Given the description of an element on the screen output the (x, y) to click on. 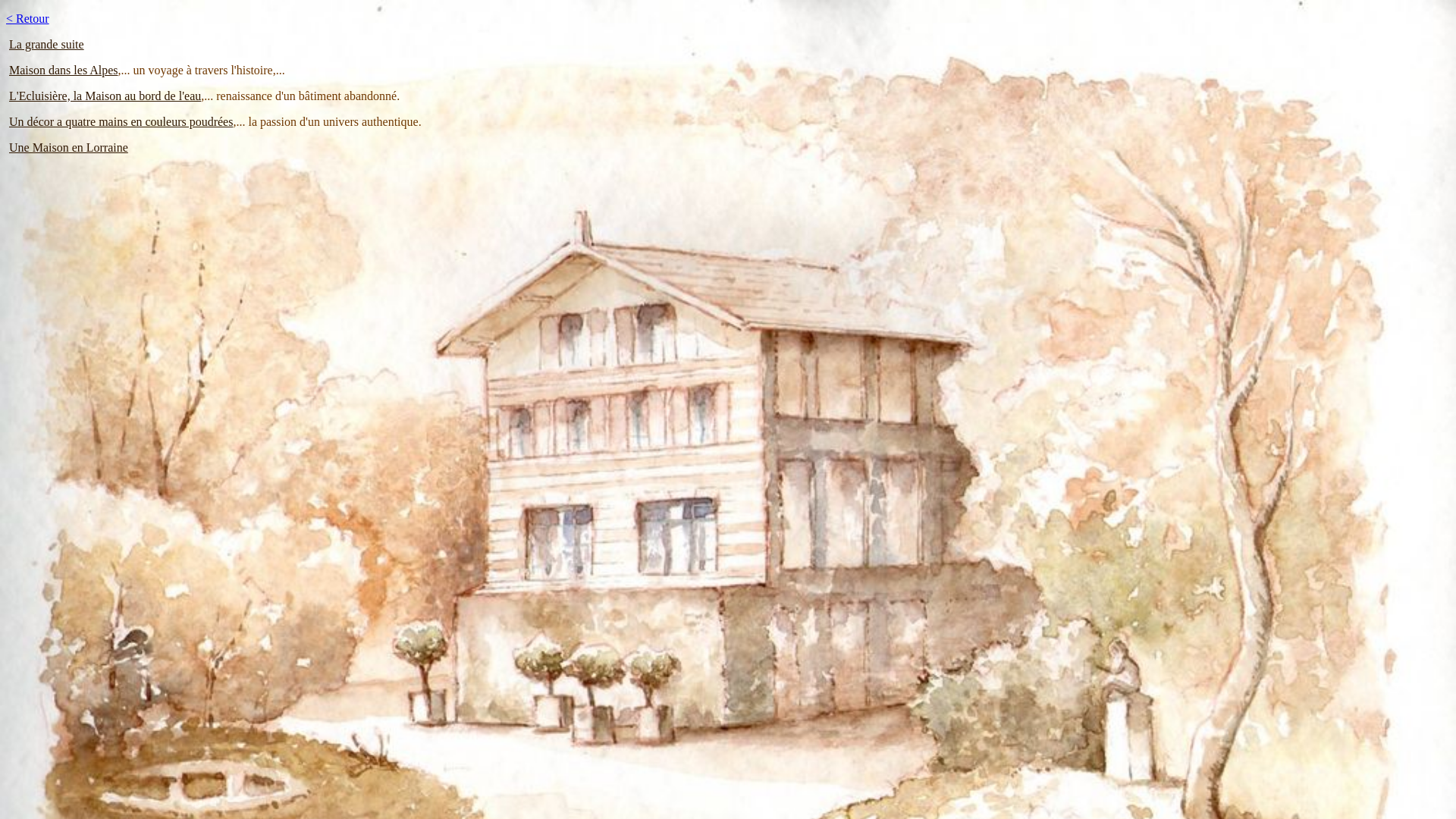
La grande suite Element type: text (46, 43)
< Retour Element type: text (27, 18)
Maison dans les Alpes Element type: text (63, 69)
Une Maison en Lorraine Element type: text (68, 147)
